Given the description of an element on the screen output the (x, y) to click on. 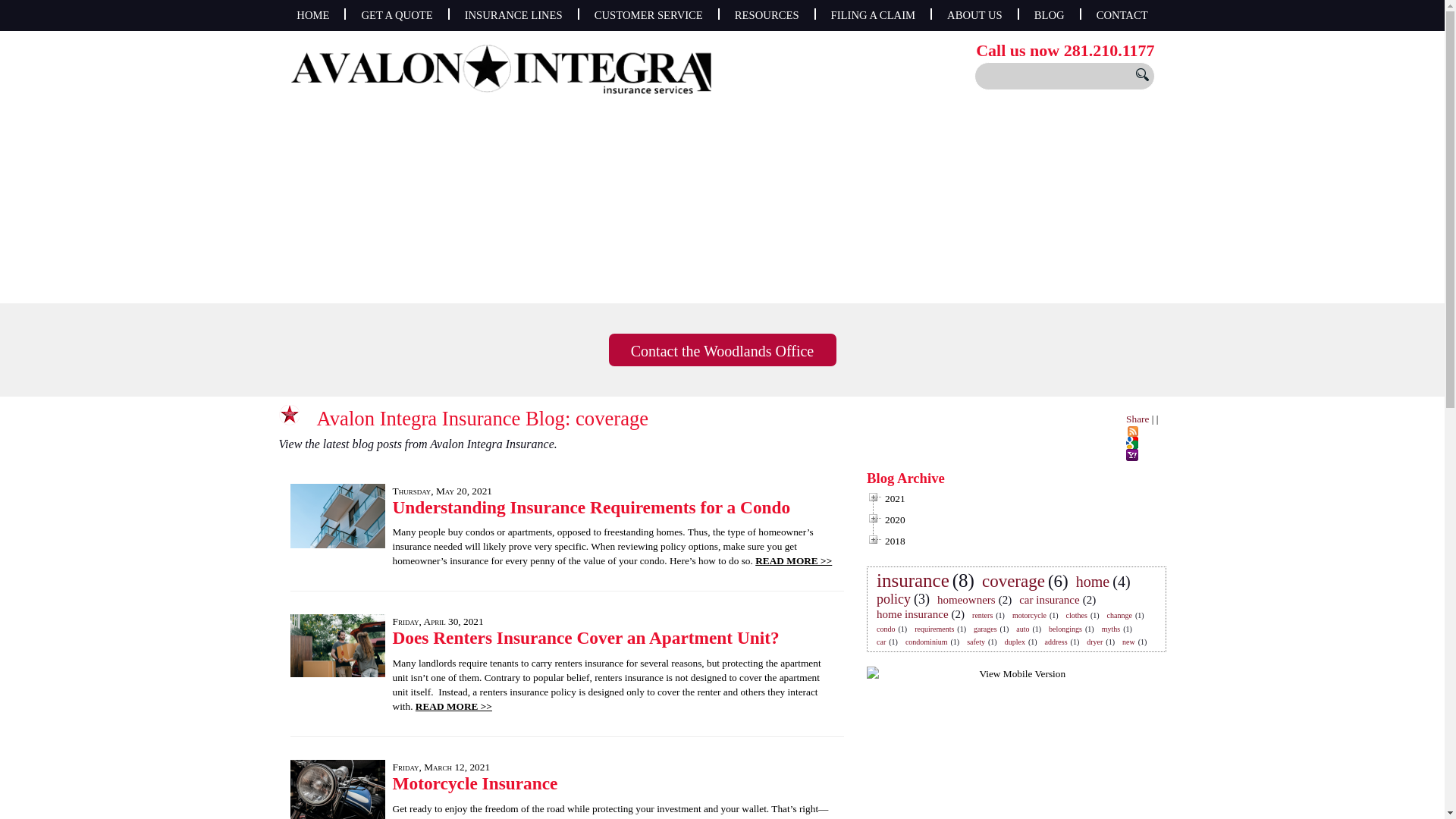
GET A QUOTE (396, 15)
home (1092, 581)
policy (893, 598)
RESOURCES (766, 15)
ABOUT US (974, 15)
auto (1022, 628)
CUSTOMER SERVICE (648, 15)
clothes (1076, 614)
condo (885, 628)
coverage (1013, 581)
motorcycle (1029, 614)
insurance (912, 580)
myths (1110, 628)
BLOG (1049, 15)
car insurance (1049, 599)
